Given the description of an element on the screen output the (x, y) to click on. 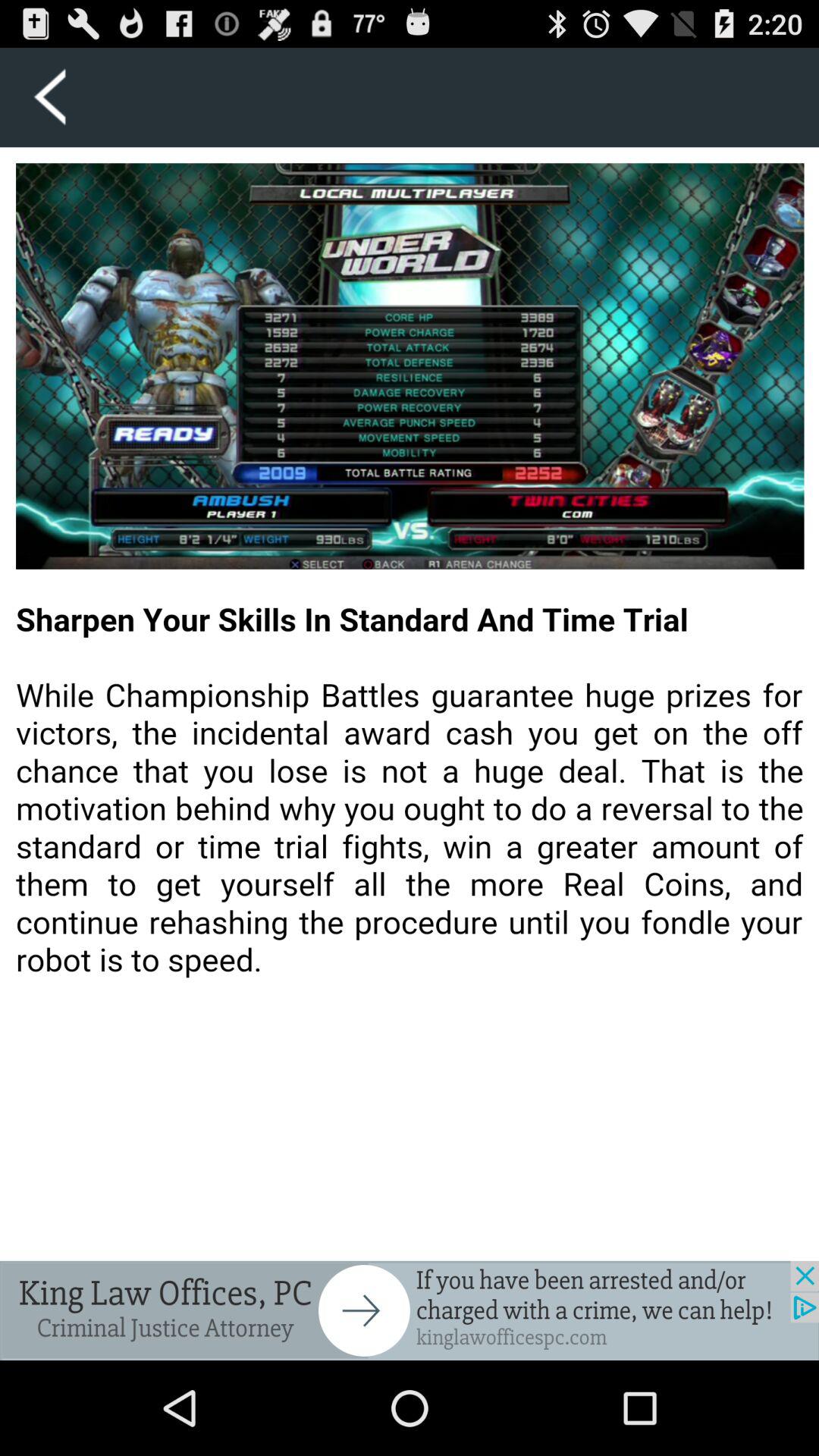
this is an advertisement (409, 1310)
